Given the description of an element on the screen output the (x, y) to click on. 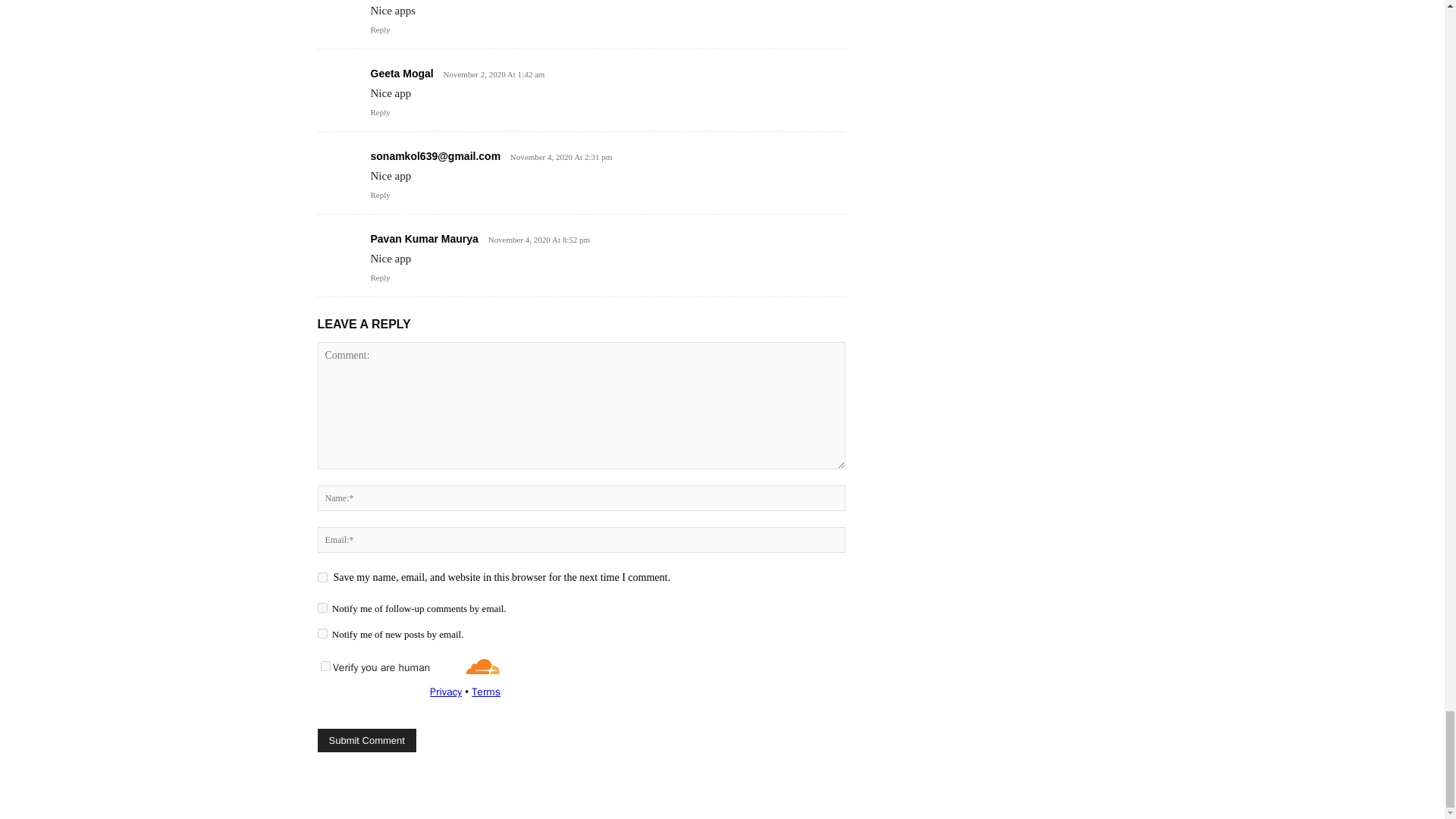
Submit Comment (365, 740)
subscribe (321, 607)
yes (321, 577)
subscribe (321, 633)
